Given the description of an element on the screen output the (x, y) to click on. 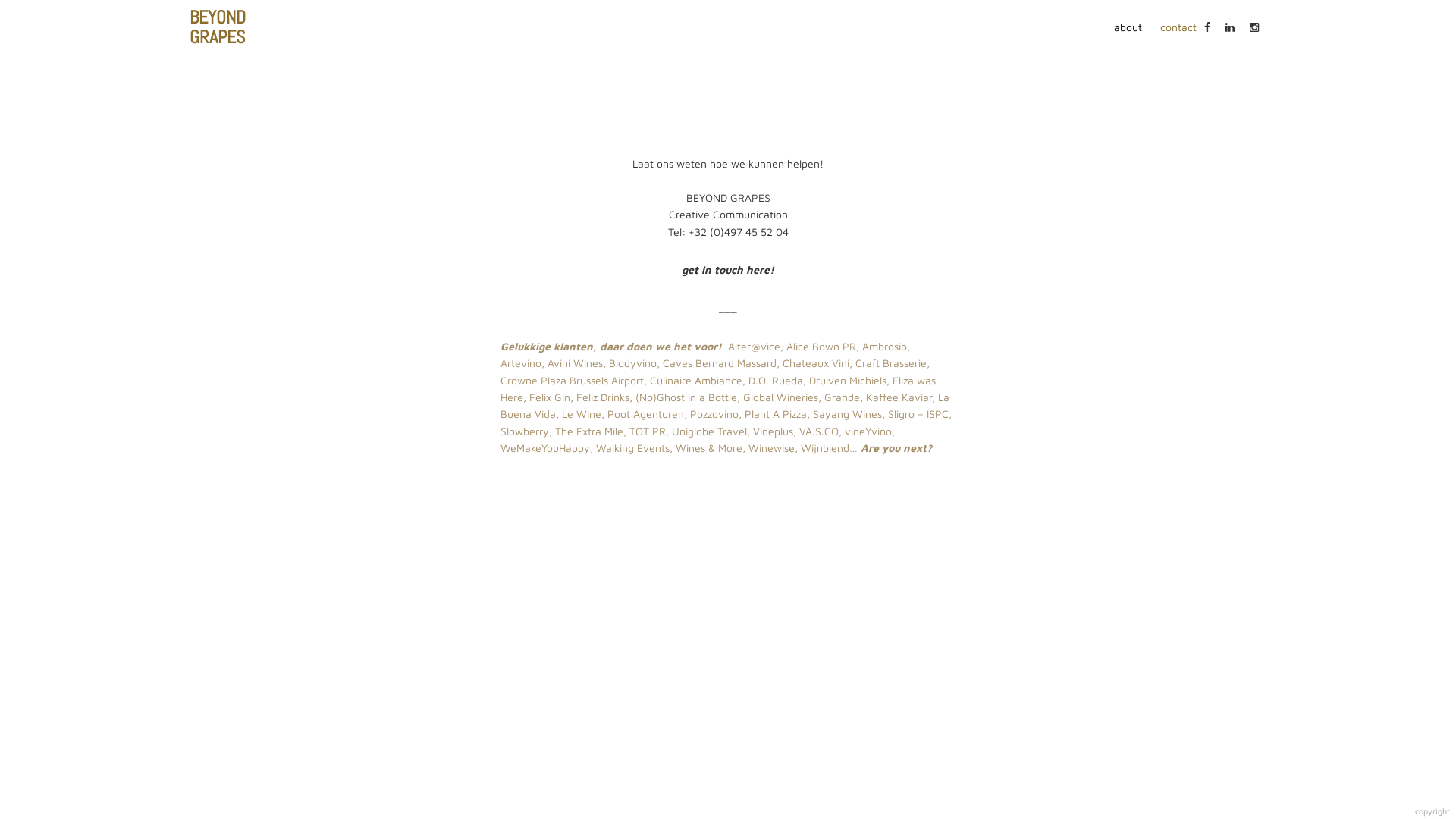
BEYOND GRAPES Element type: text (217, 25)
contact Element type: text (1178, 26)
about Element type: text (1127, 26)
get in touch here! Element type: text (727, 269)
